Given the description of an element on the screen output the (x, y) to click on. 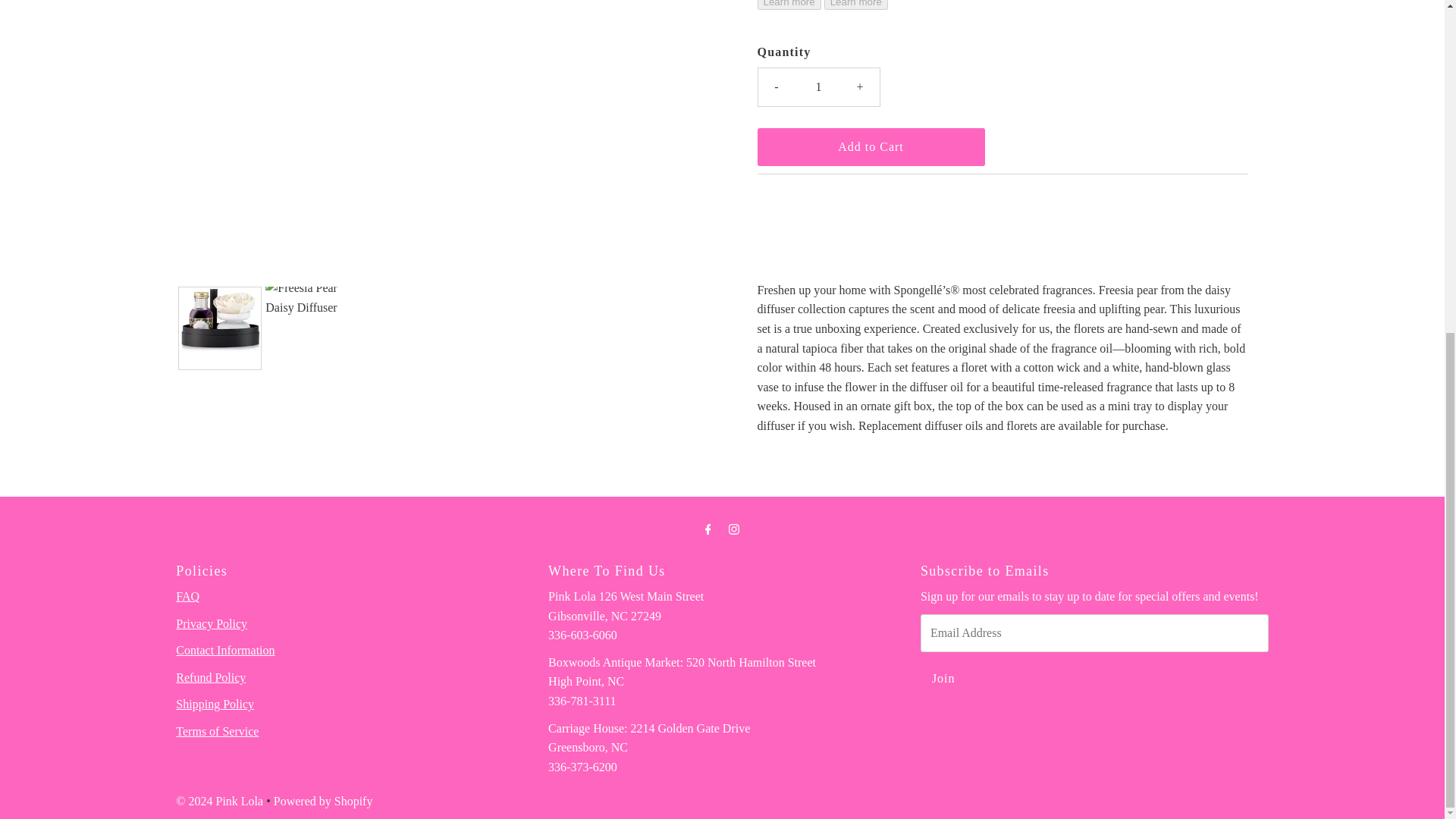
Terms of Service (217, 730)
Contact Information (225, 649)
FAQ (187, 595)
Join (943, 678)
1 (818, 86)
Refund Policy (211, 676)
Privacy Policy (211, 623)
Shipping Policy (214, 703)
Add to Cart (870, 146)
